Given the description of an element on the screen output the (x, y) to click on. 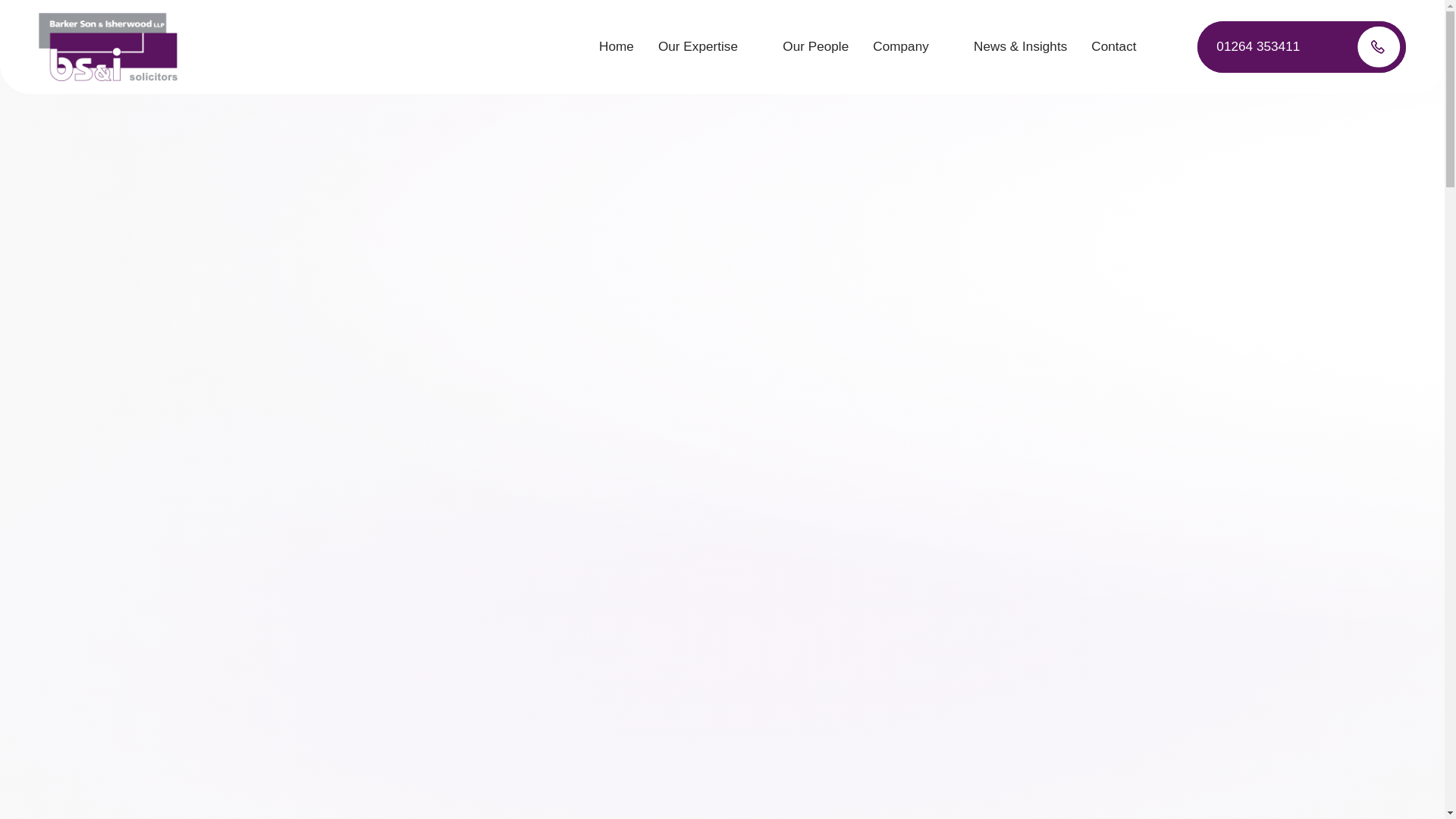
Our Expertise (708, 47)
Home (615, 47)
